Given the description of an element on the screen output the (x, y) to click on. 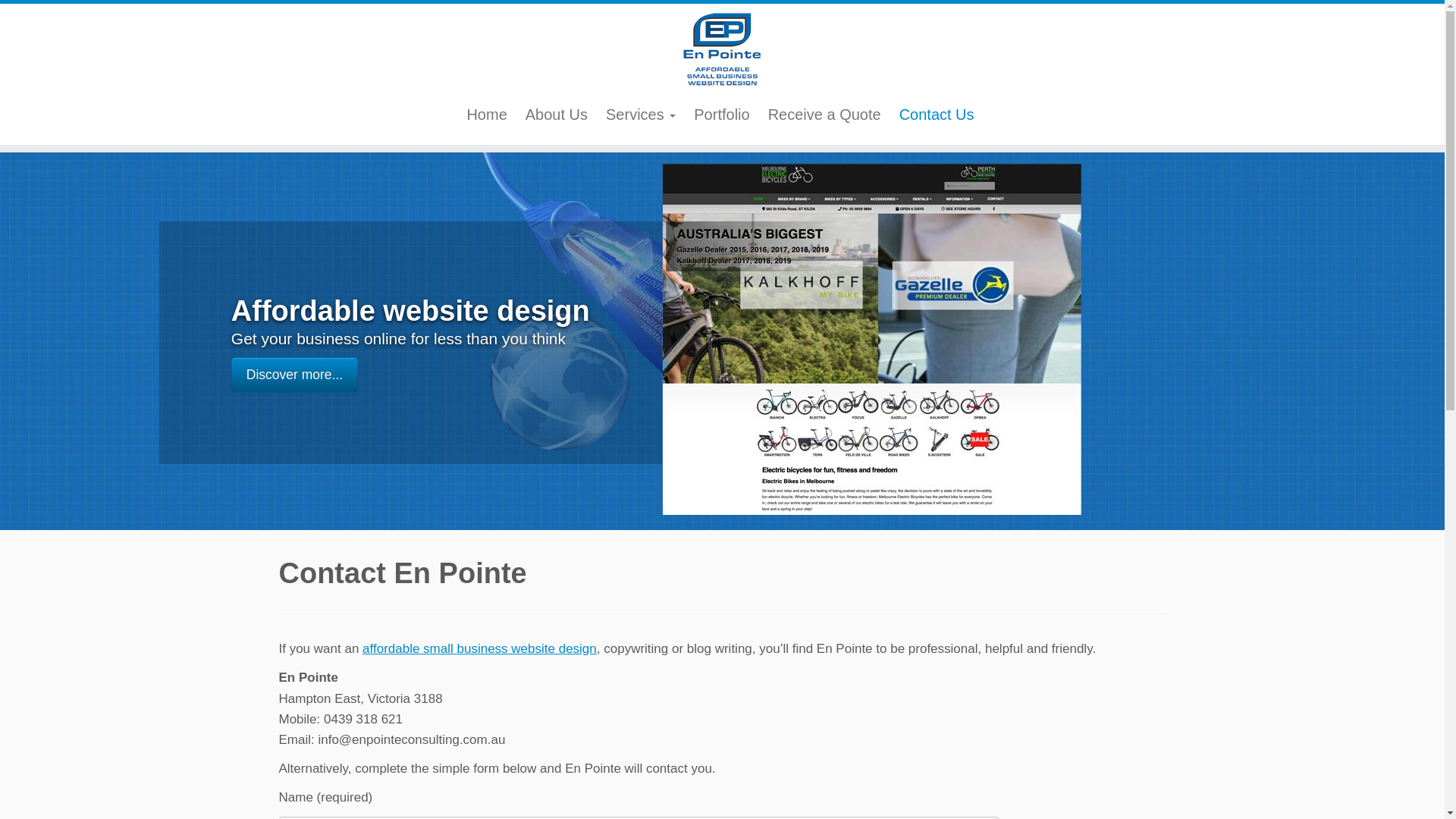
Portfolio Element type: text (721, 114)
Services Element type: text (640, 114)
About Us Element type: text (556, 114)
Receive a Quote Element type: text (824, 114)
Home Element type: text (486, 114)
affordable small business website design Element type: text (479, 648)
Discover more... Element type: text (294, 374)
Contact Us Element type: text (936, 114)
